Given the description of an element on the screen output the (x, y) to click on. 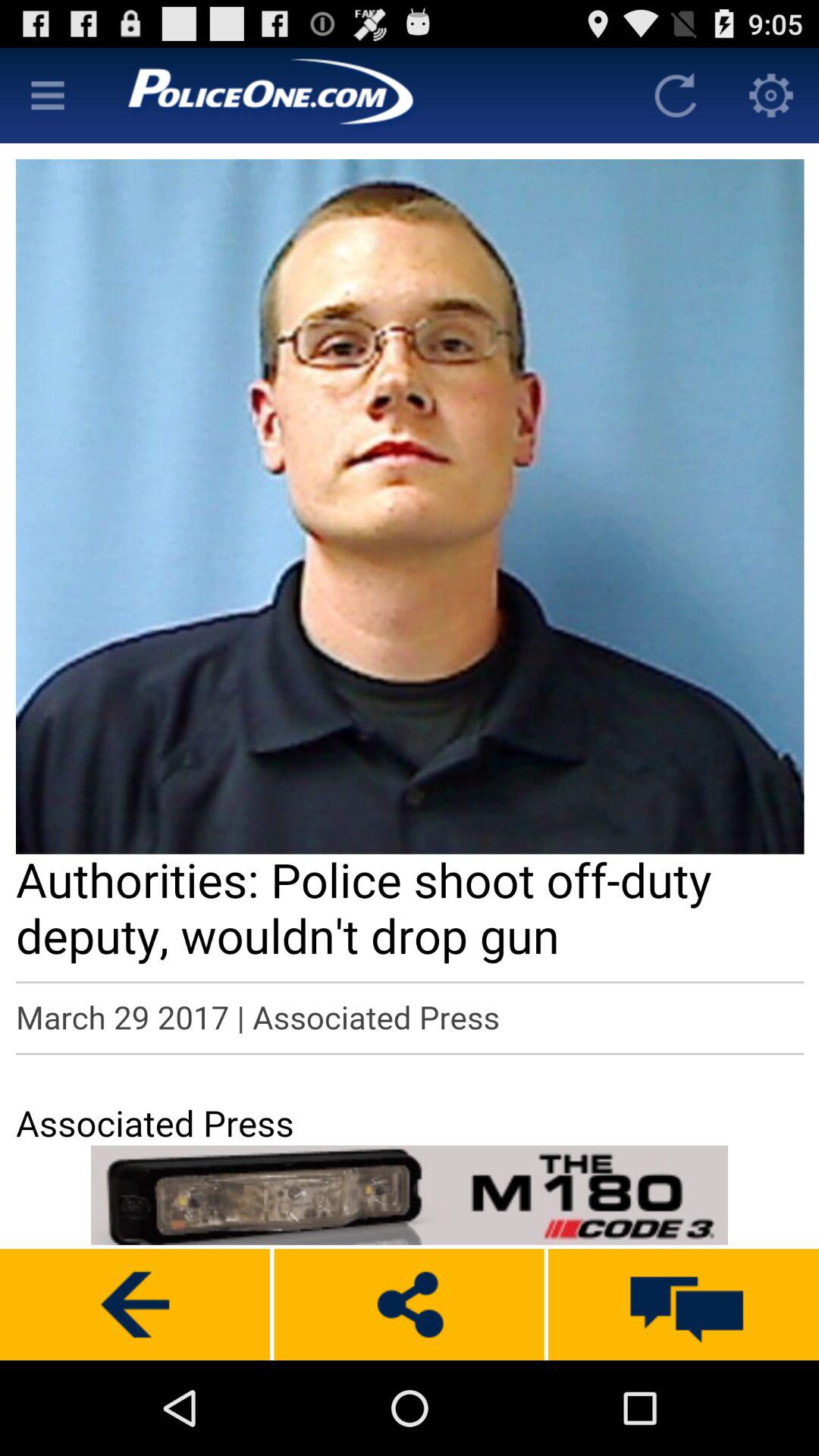
return to previous (135, 1304)
